Given the description of an element on the screen output the (x, y) to click on. 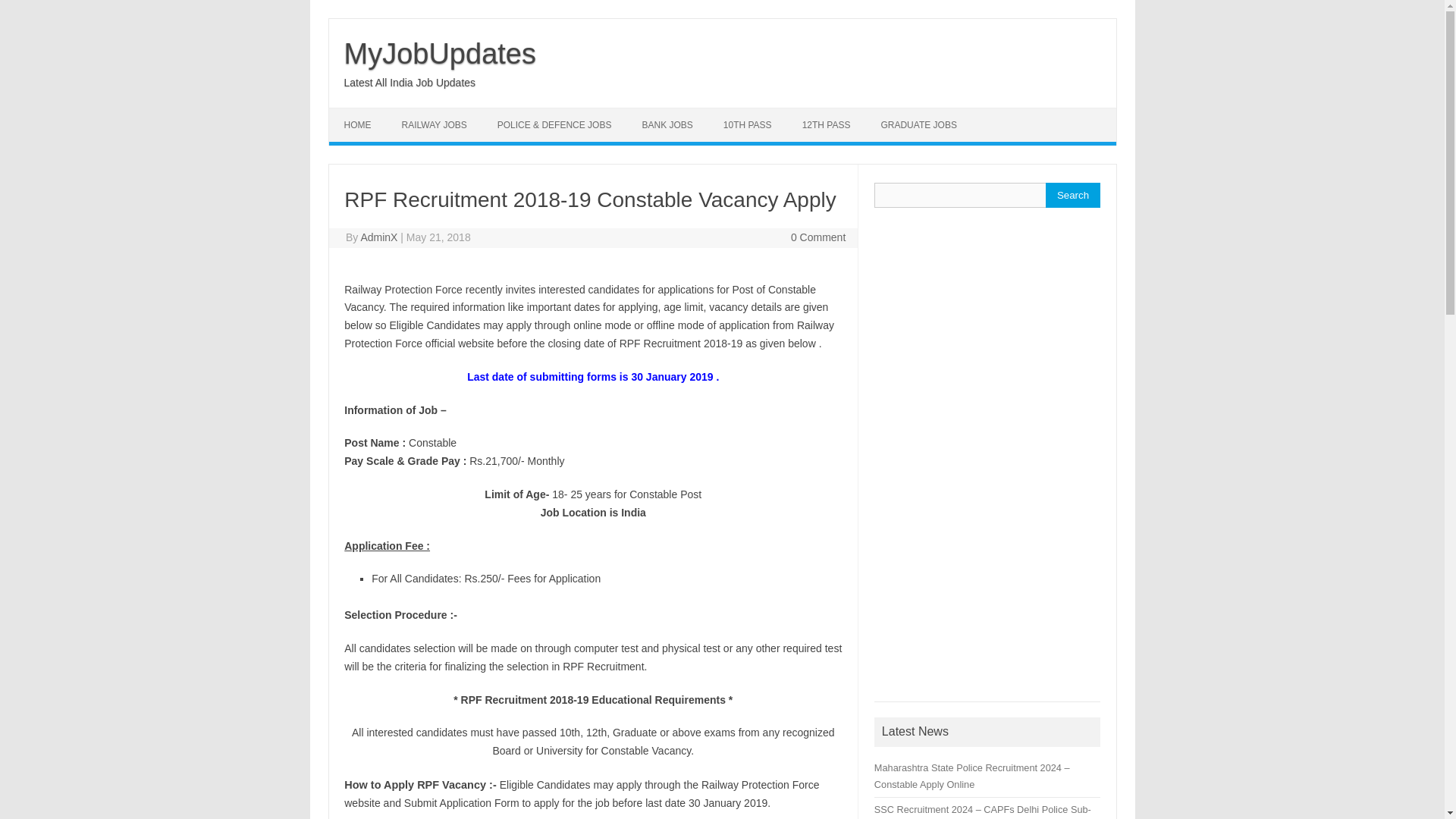
12TH PASS (826, 124)
RAILWAY JOBS (434, 124)
AdminX (378, 236)
BANK JOBS (666, 124)
Search (1072, 195)
MyJobUpdates (439, 53)
Search (1072, 195)
GRADUATE JOBS (917, 124)
Posts by AdminX (378, 236)
HOME (358, 124)
MyJobUpdates (439, 53)
Latest All India Job Updates (409, 82)
0 Comment (817, 236)
